Given the description of an element on the screen output the (x, y) to click on. 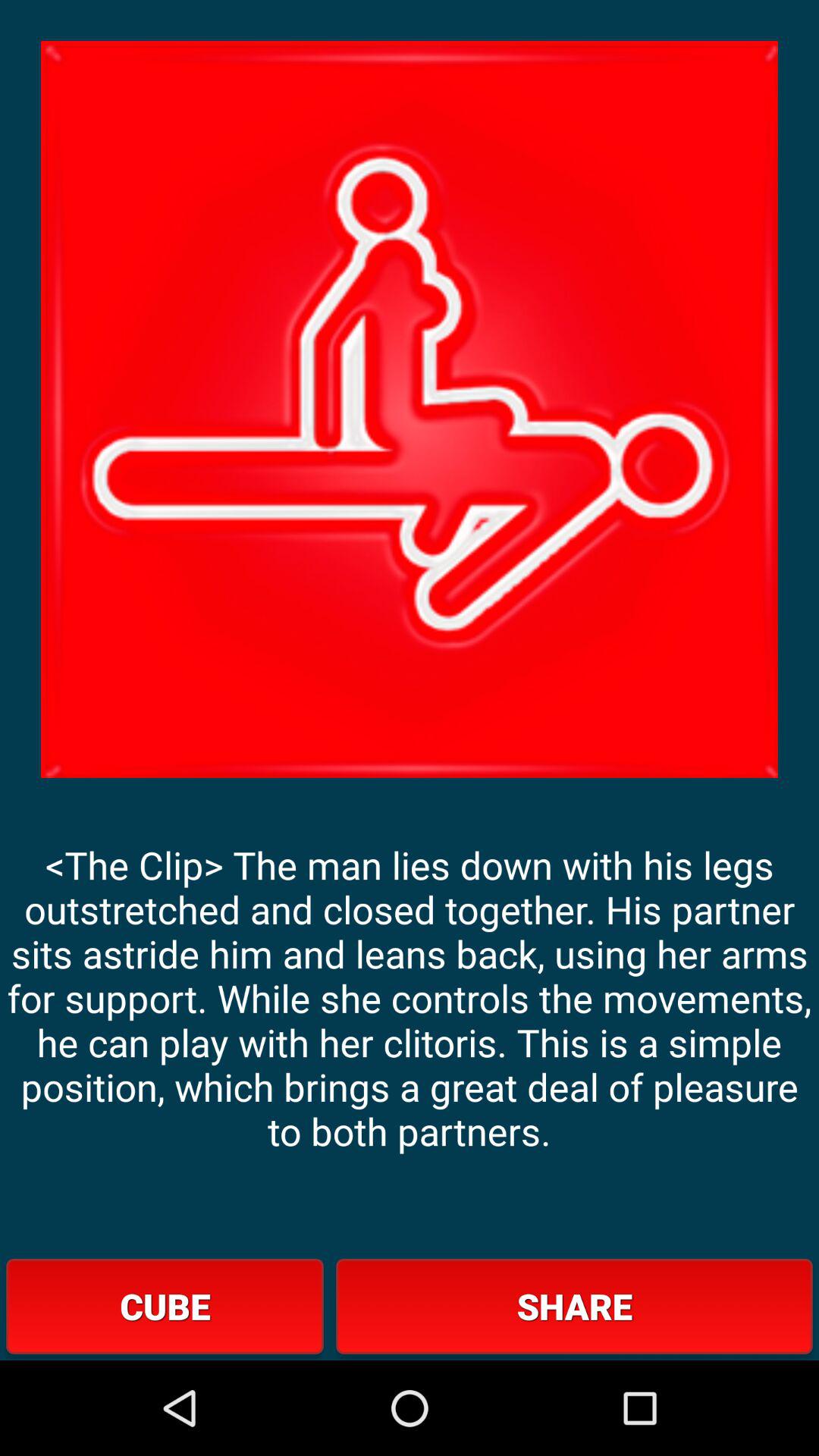
flip until share (574, 1306)
